Given the description of an element on the screen output the (x, y) to click on. 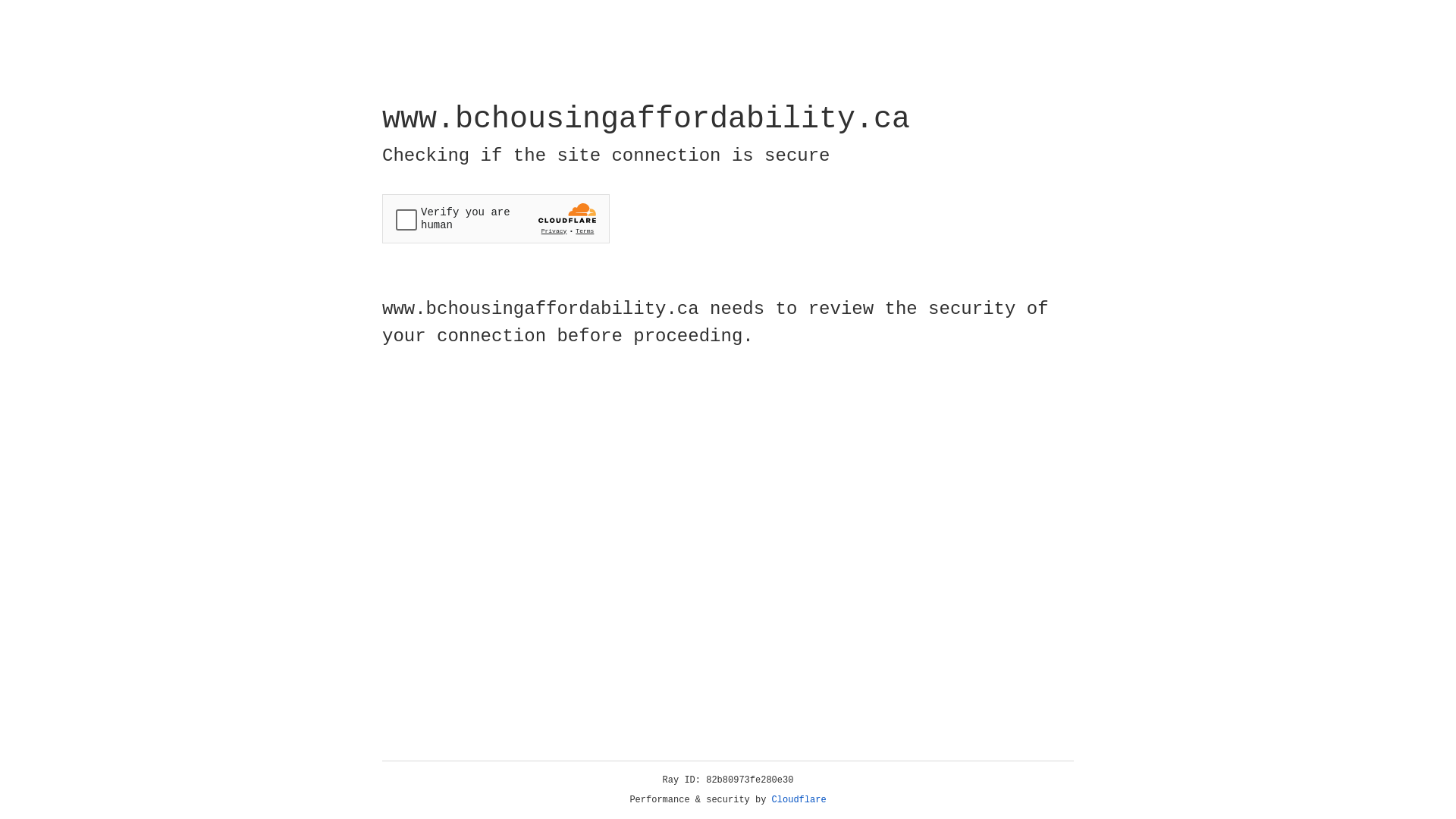
Widget containing a Cloudflare security challenge Element type: hover (495, 218)
Cloudflare Element type: text (798, 799)
